Given the description of an element on the screen output the (x, y) to click on. 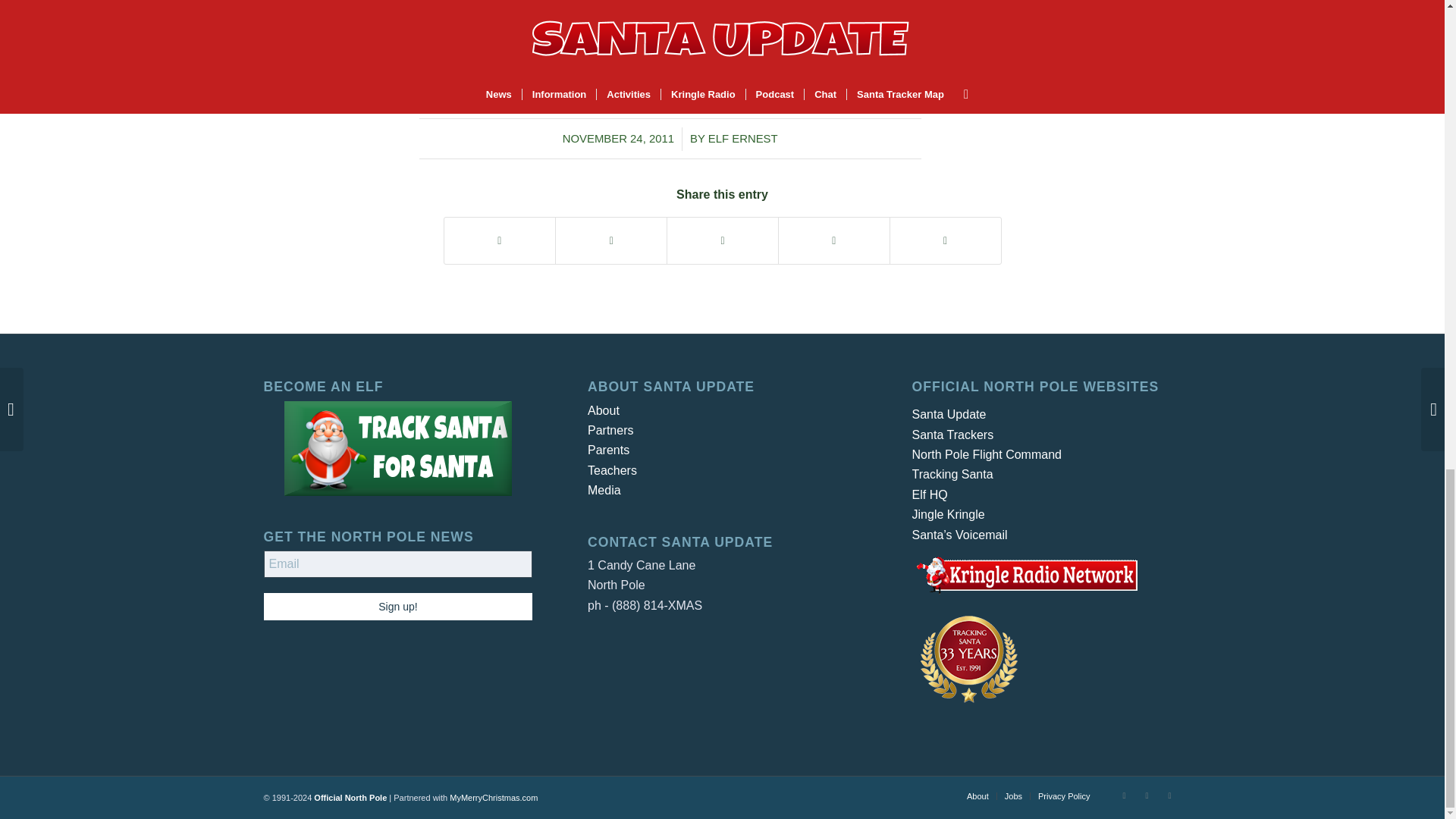
Posts by Elf Ernest (742, 138)
X (1124, 794)
Facebook (1146, 794)
Sign up! (397, 605)
Subscribe (507, 13)
Become an Elf (397, 448)
